Given the description of an element on the screen output the (x, y) to click on. 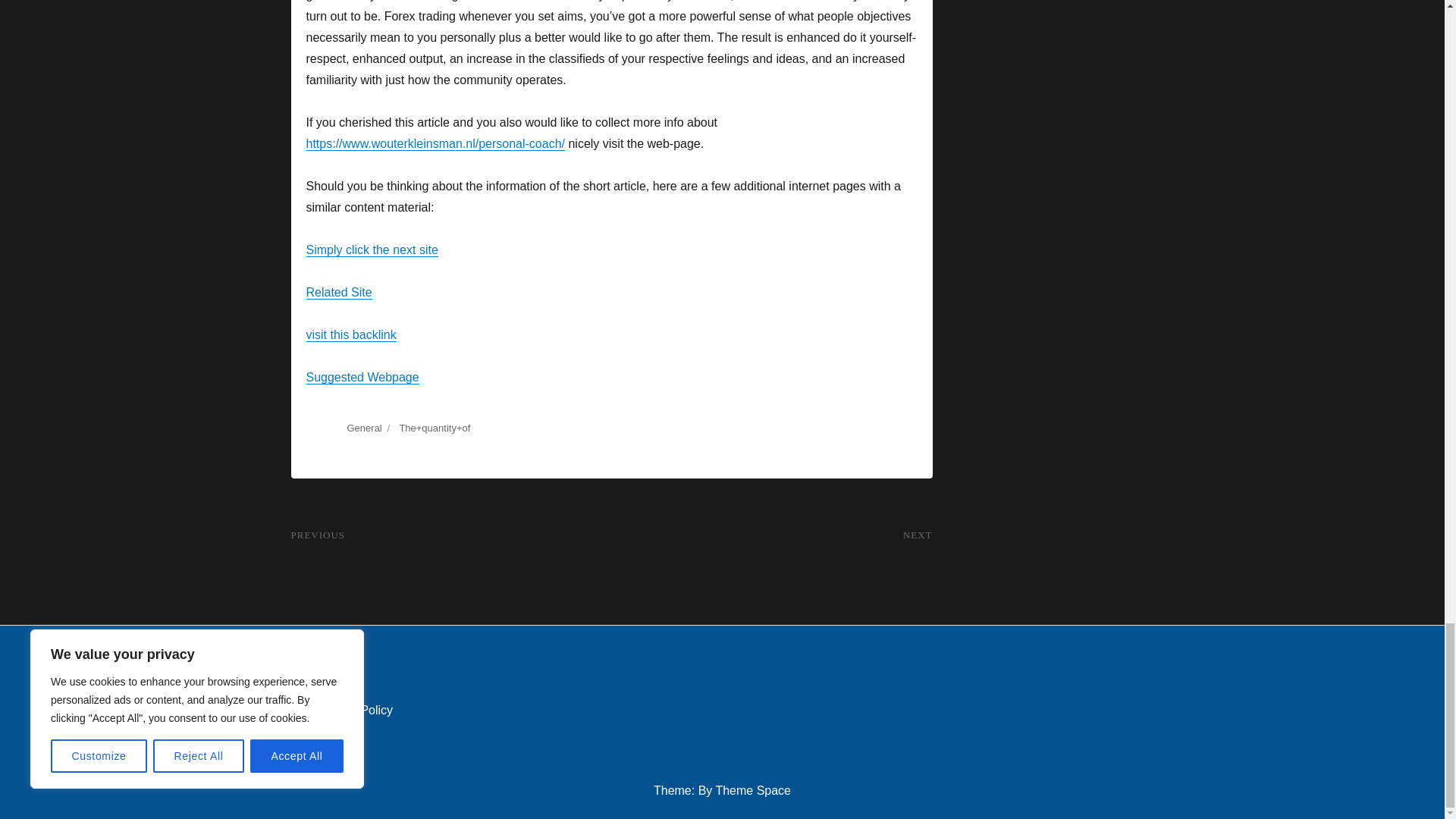
Simply click the next site (371, 249)
Suggested Webpage (362, 377)
visit this backlink (350, 334)
Related Site (338, 291)
General (364, 428)
